Given the description of an element on the screen output the (x, y) to click on. 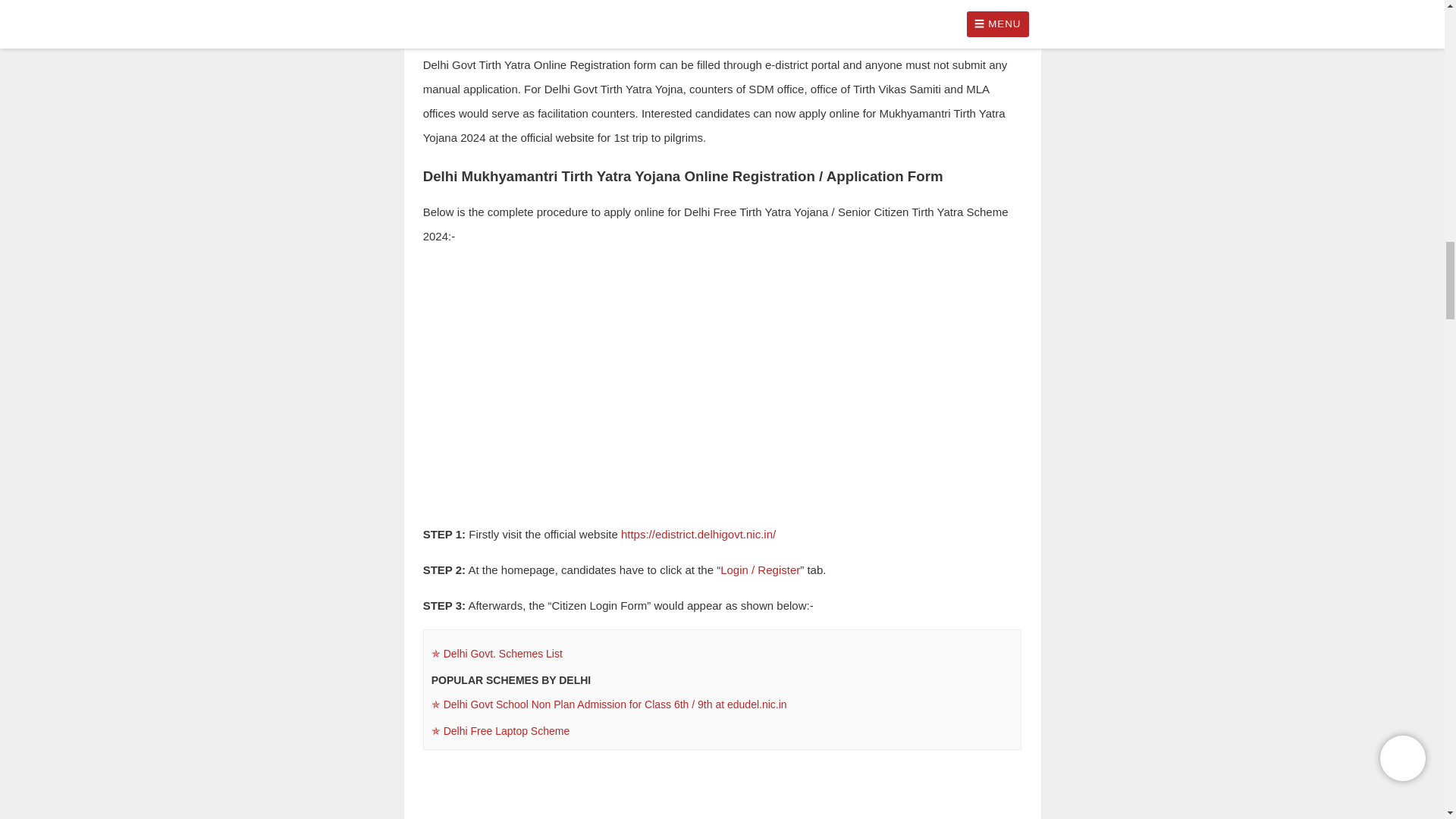
Delhi Govt. Schemes List (721, 653)
Delhi Free Laptop Scheme (721, 730)
